Given the description of an element on the screen output the (x, y) to click on. 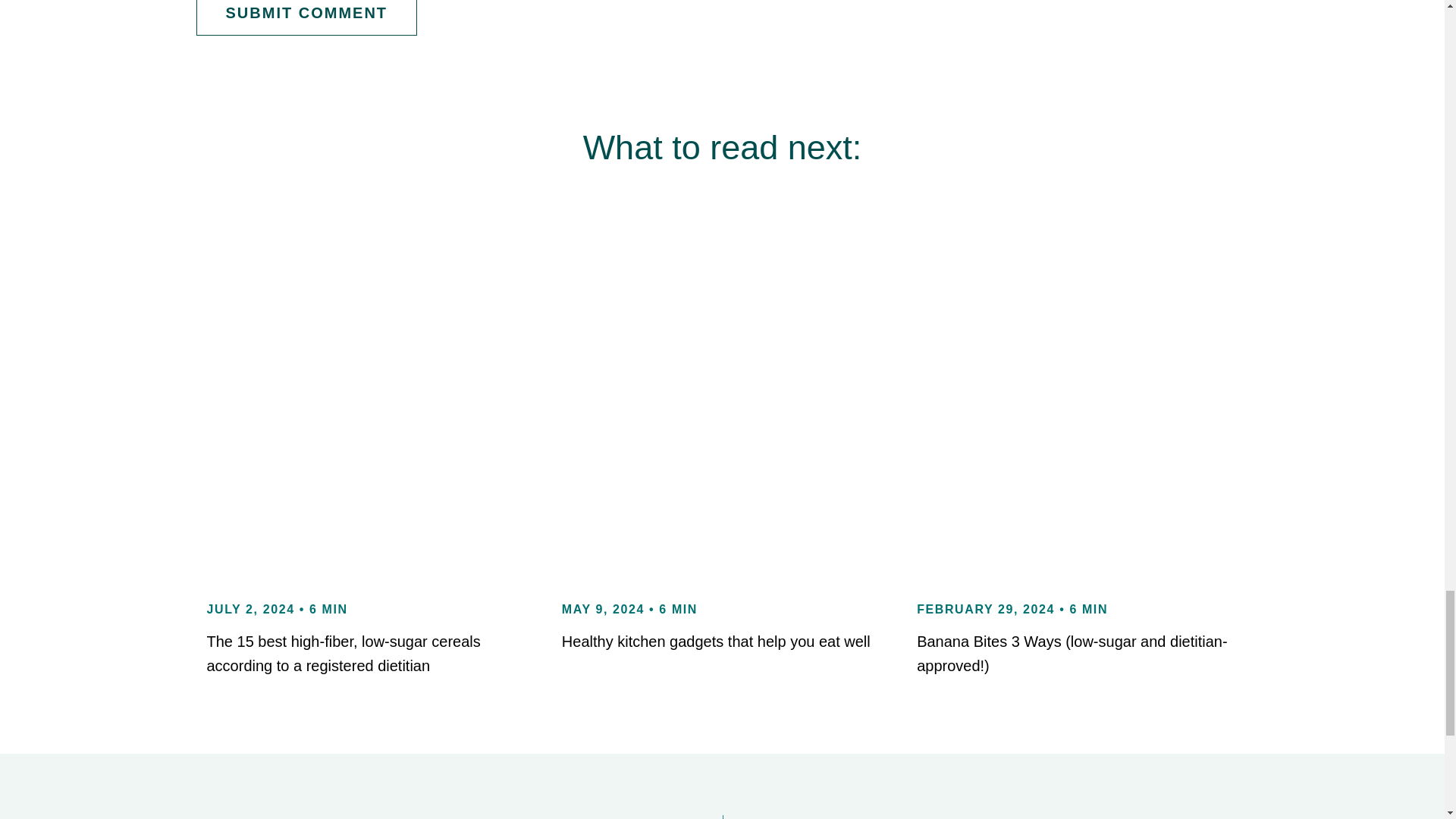
Healthy kitchen gadgets that help you eat well (716, 641)
SUBMIT COMMENT (305, 18)
SUBMIT COMMENT (305, 18)
